Given the description of an element on the screen output the (x, y) to click on. 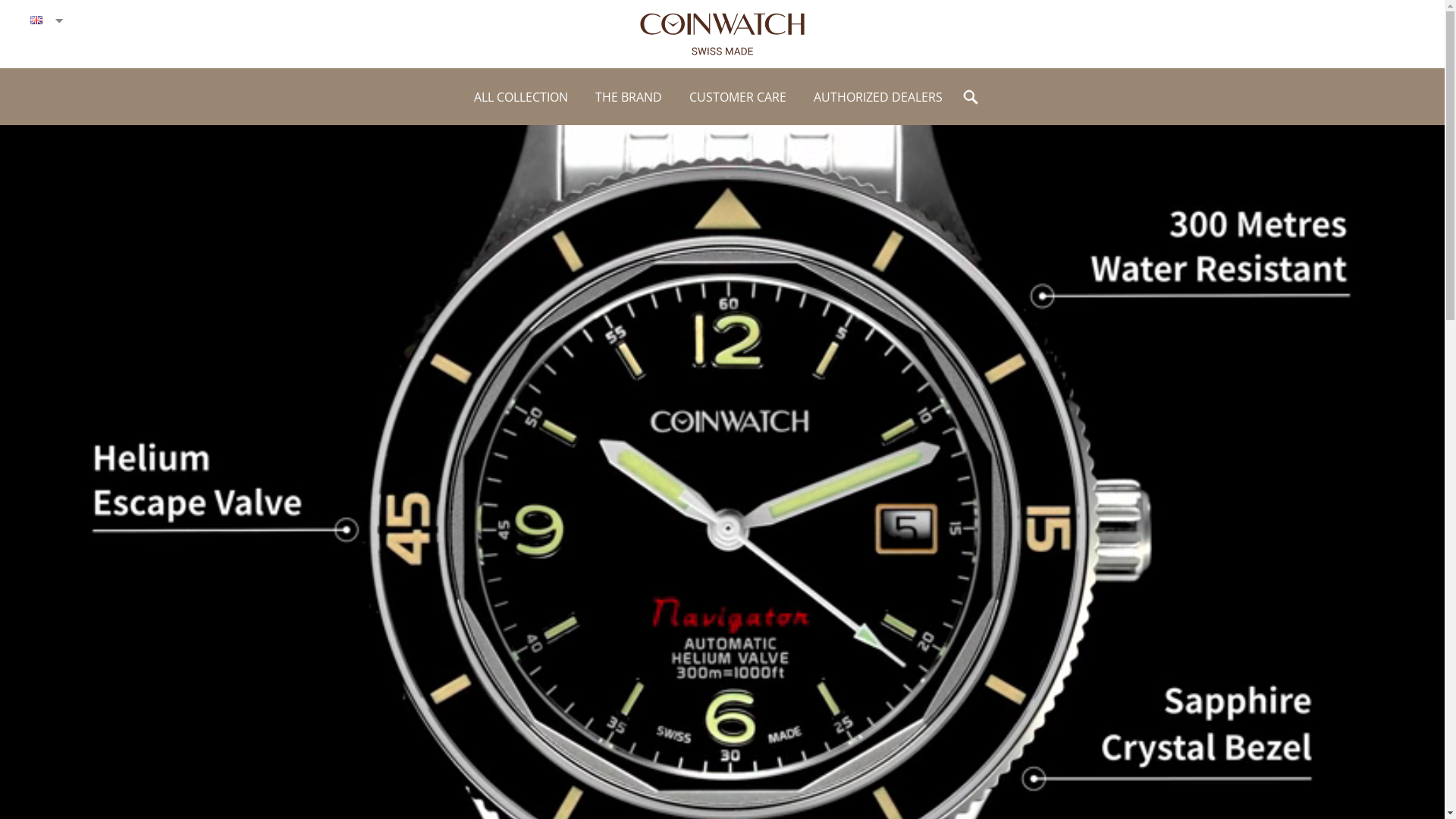
ALL COLLECTION Element type: text (520, 96)
AUTHORIZED DEALERS Element type: text (876, 96)
THE BRAND Element type: text (627, 96)
Skip to navigation Element type: text (721, 67)
Search Element type: text (37, 17)
CUSTOMER CARE Element type: text (736, 96)
